Given the description of an element on the screen output the (x, y) to click on. 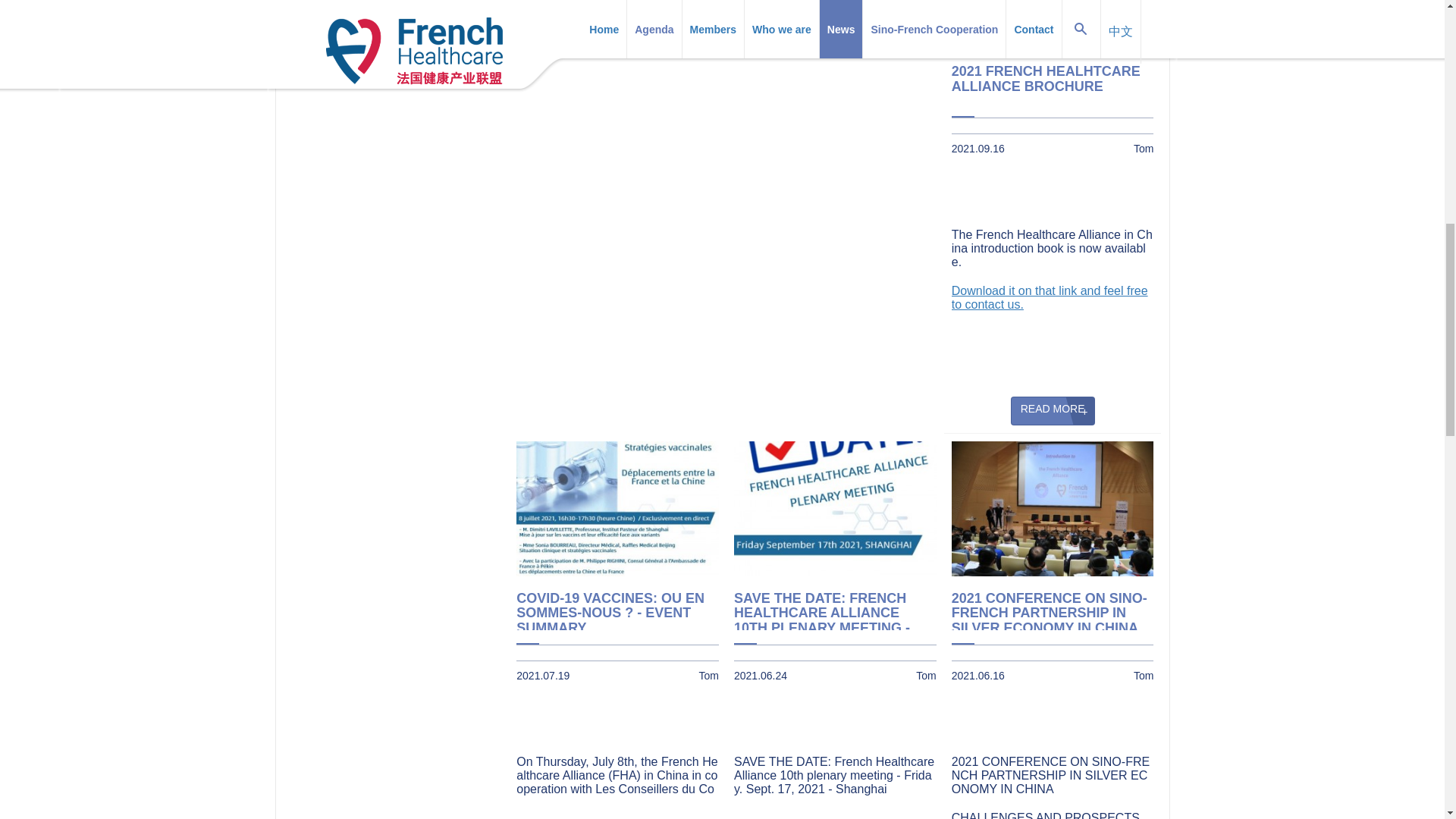
2021 FRENCH HEALHTCARE ALLIANCE BROCHURE (1053, 83)
Download it on that link and feel free to contact us. (1050, 297)
READ MORE (835, 5)
